Given the description of an element on the screen output the (x, y) to click on. 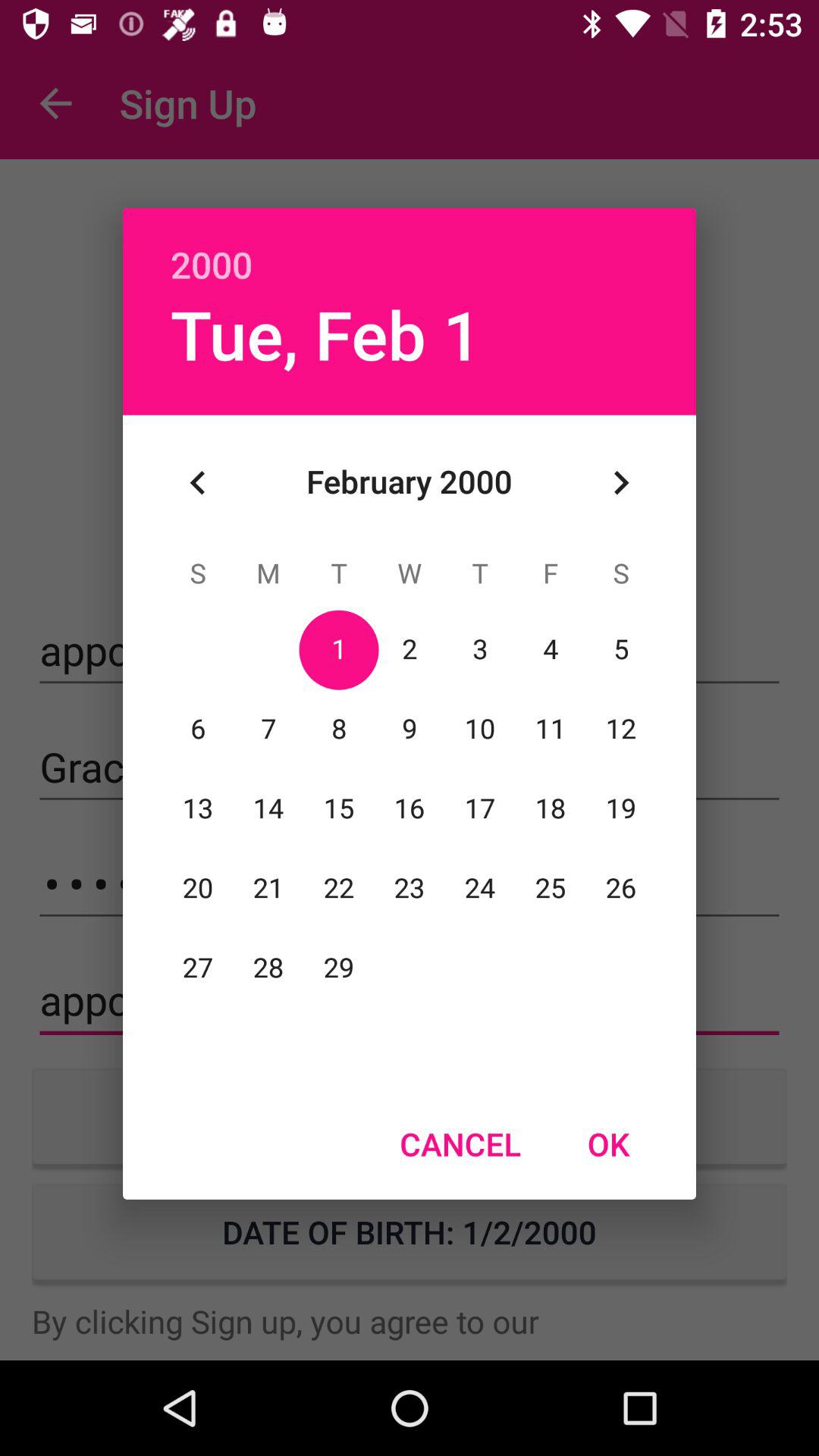
press the icon below 2000 icon (325, 333)
